Given the description of an element on the screen output the (x, y) to click on. 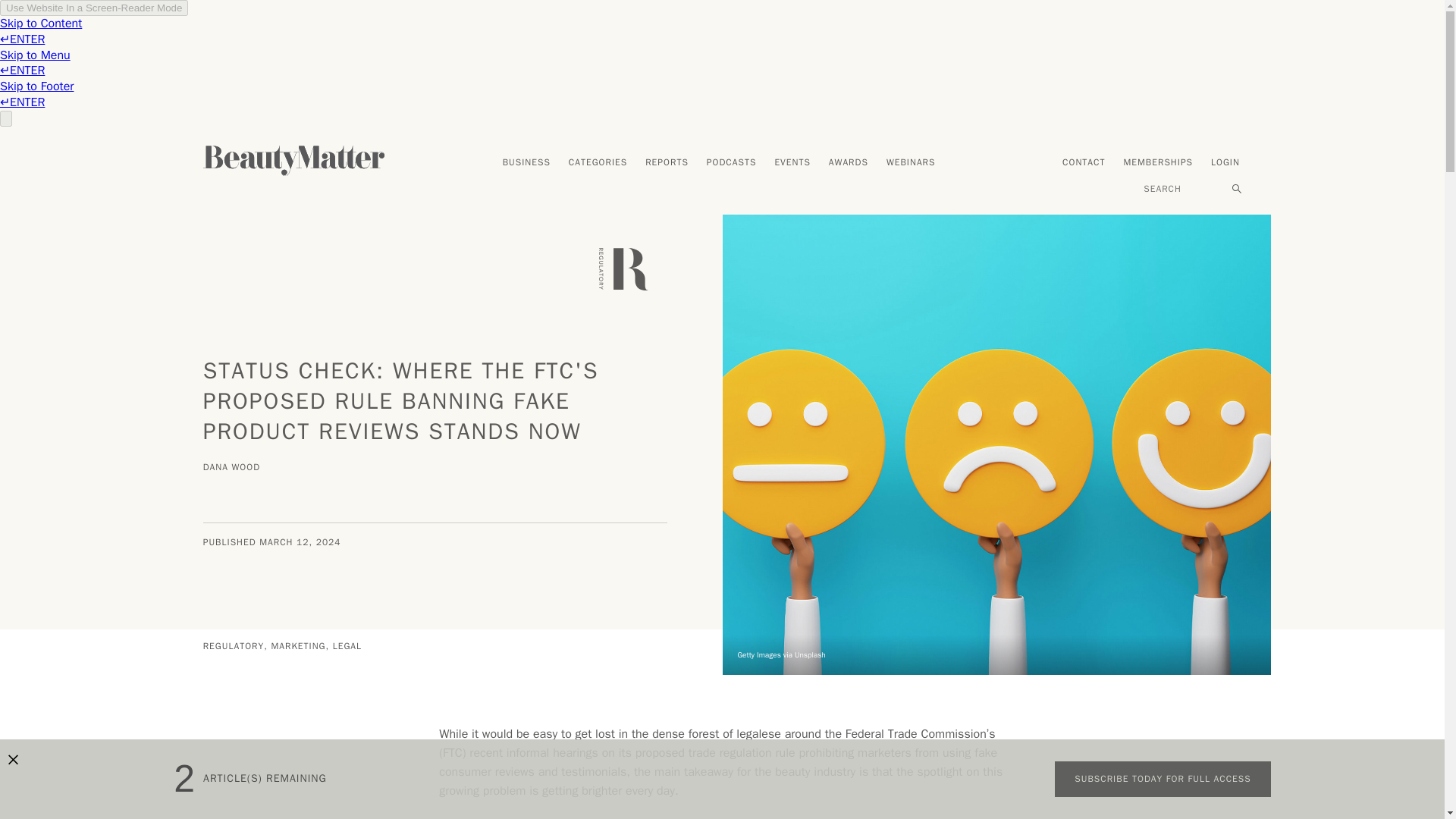
LOGIN (1225, 163)
CATEGORIES (597, 163)
LEGAL (347, 645)
MEMBERSHIPS (1157, 163)
DANA WOOD (233, 468)
PODCASTS (731, 163)
BUSINESS (526, 163)
MARKETING (299, 645)
WEBINARS (910, 163)
AWARDS (848, 163)
SUBSCRIBE TODAY FOR FULL ACCESS (1161, 779)
EVENTS (791, 163)
REGULATORY (235, 645)
REPORTS (666, 163)
CONTACT (1082, 163)
